Given the description of an element on the screen output the (x, y) to click on. 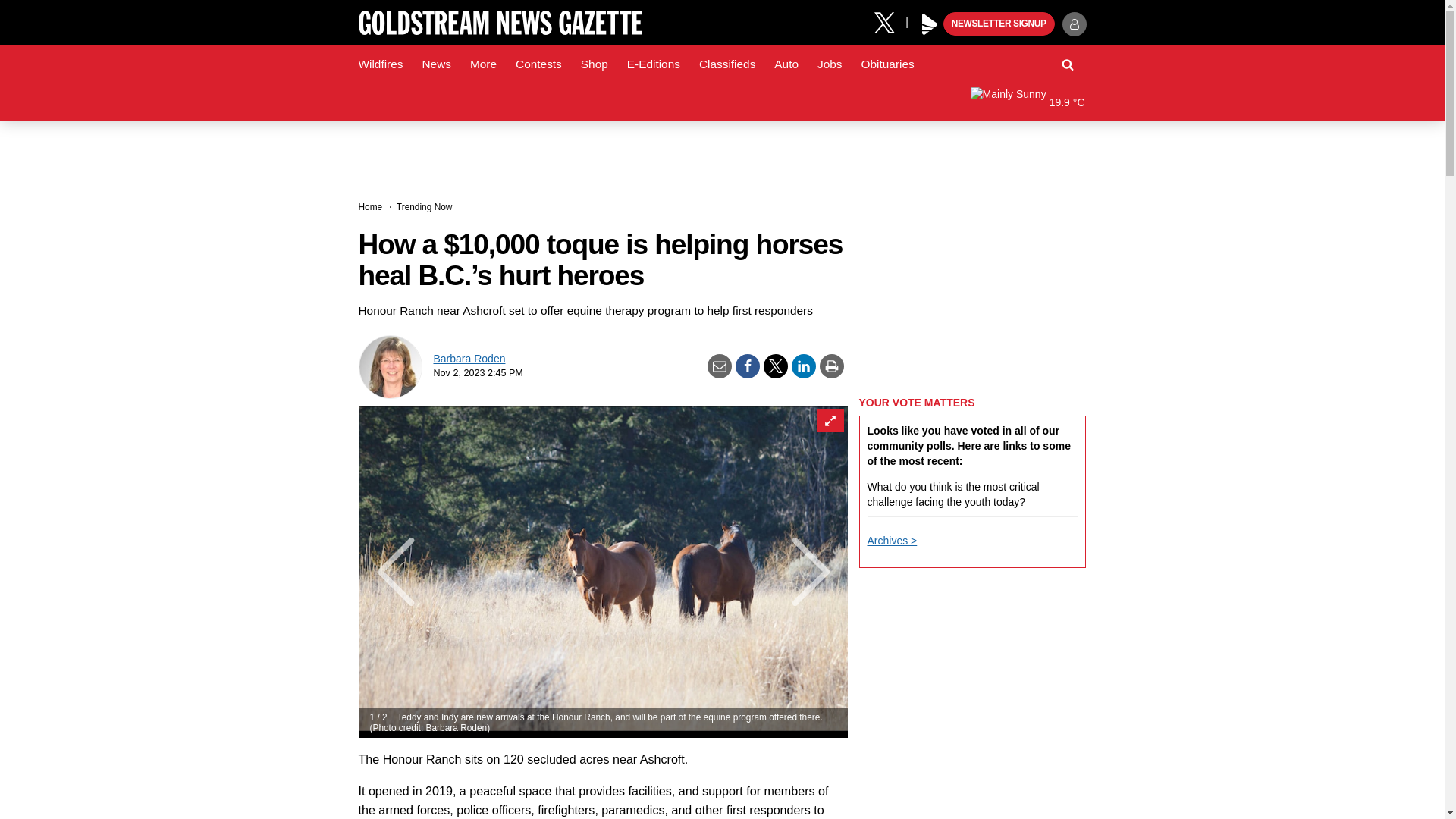
News (435, 64)
Expand (829, 420)
Wildfires (380, 64)
Play (929, 24)
Black Press Media (929, 24)
NEWSLETTER SIGNUP (998, 24)
X (889, 21)
